Given the description of an element on the screen output the (x, y) to click on. 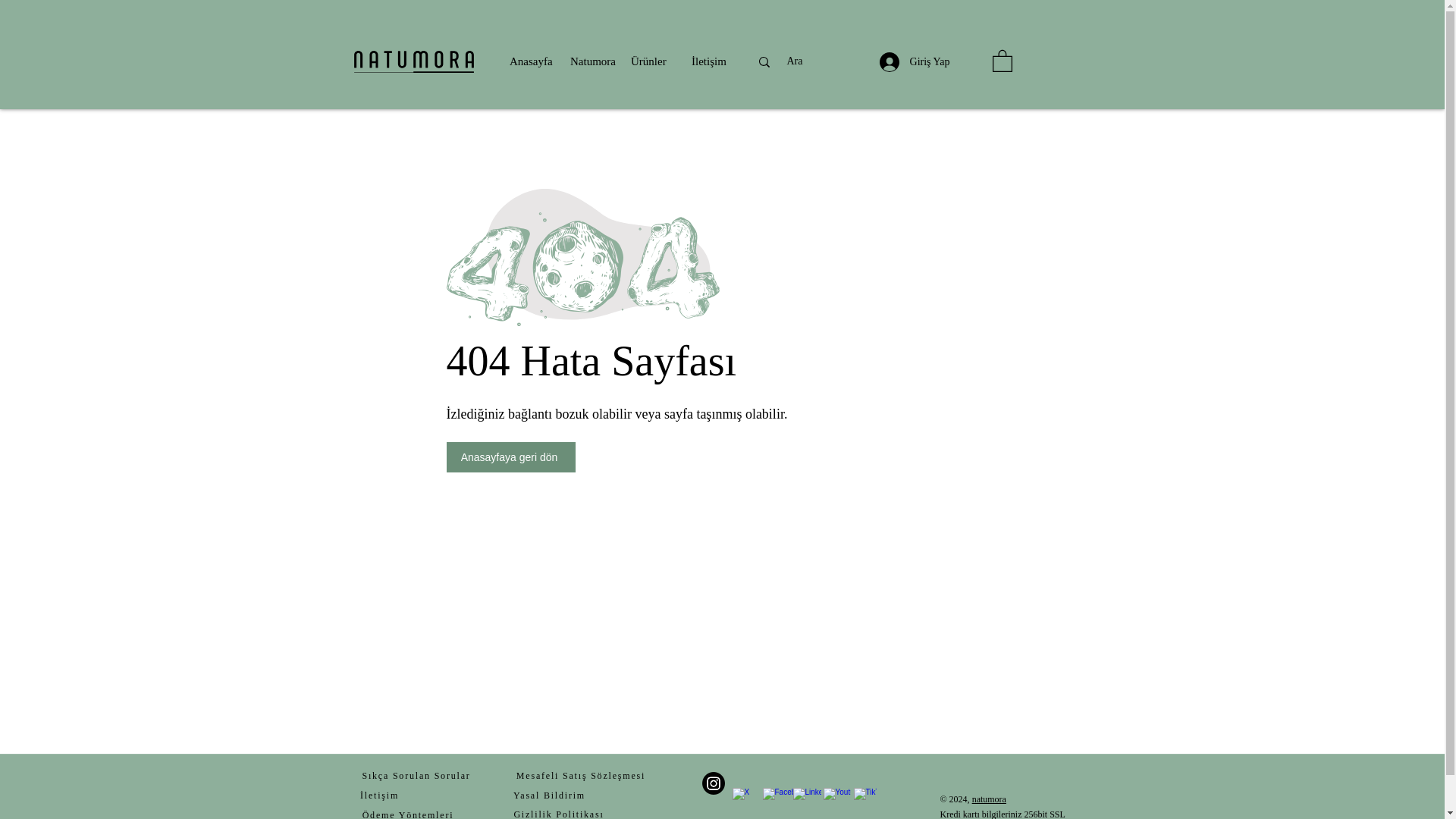
Yasal Bildirim (549, 796)
Anasayfa (532, 61)
natumora (989, 798)
